Given the description of an element on the screen output the (x, y) to click on. 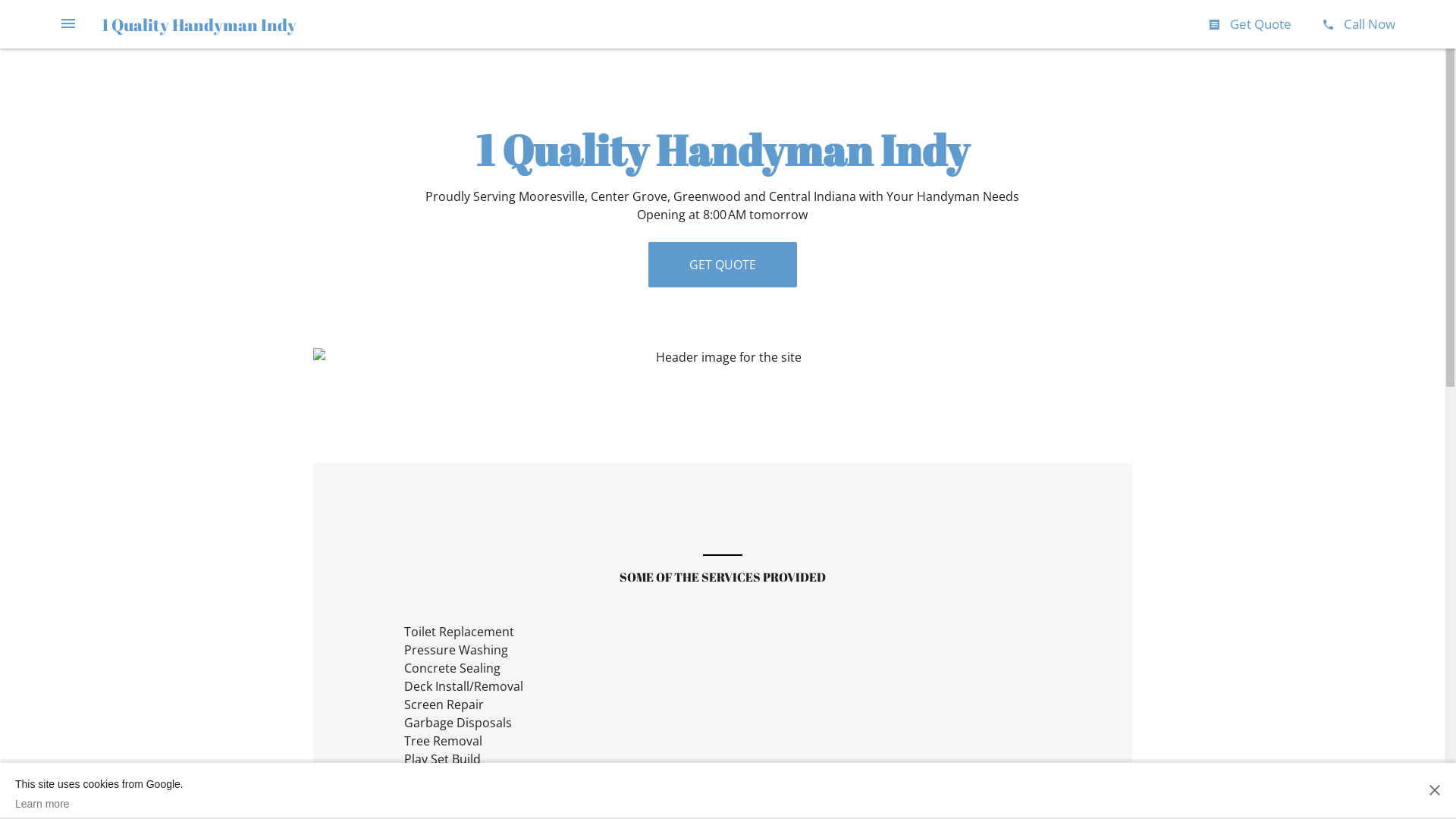
1 Quality Handyman Indy Element type: text (198, 24)
Learn more Element type: text (99, 803)
GET QUOTE Element type: text (721, 264)
